Given the description of an element on the screen output the (x, y) to click on. 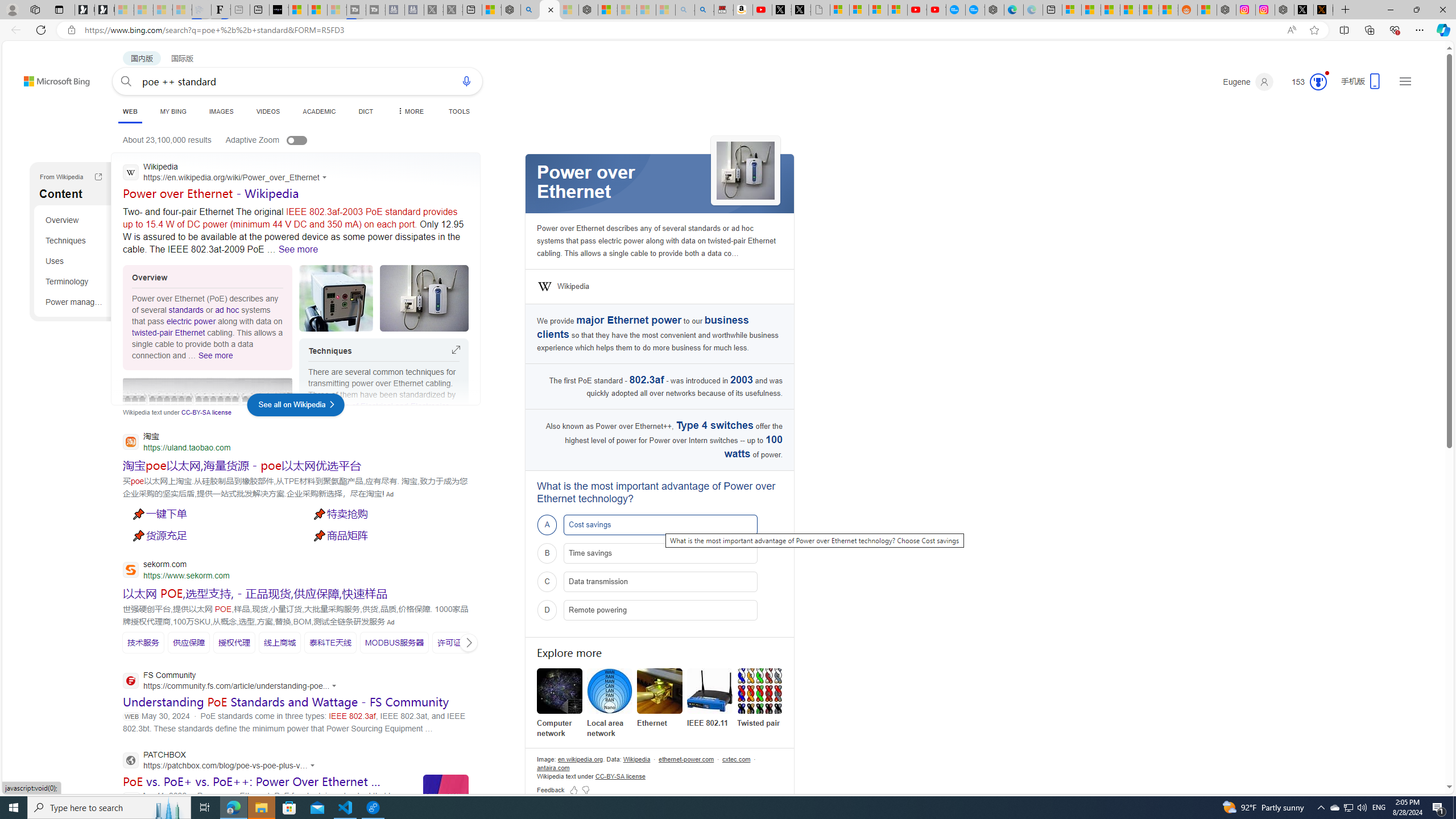
Image attribution en.wikipedia.org (579, 758)
Explore more Computer network (559, 703)
VIDEOS (268, 111)
Explore more Ethernet (659, 698)
Shanghai, China weather forecast | Microsoft Weather (1090, 9)
Wikipedia (573, 286)
Streaming Coverage | T3 - Sleeping (356, 9)
Explore more Twisted pair (759, 698)
Terminology (74, 281)
FS Community (232, 681)
Data attribution ethernet-power.com (686, 758)
